Given the description of an element on the screen output the (x, y) to click on. 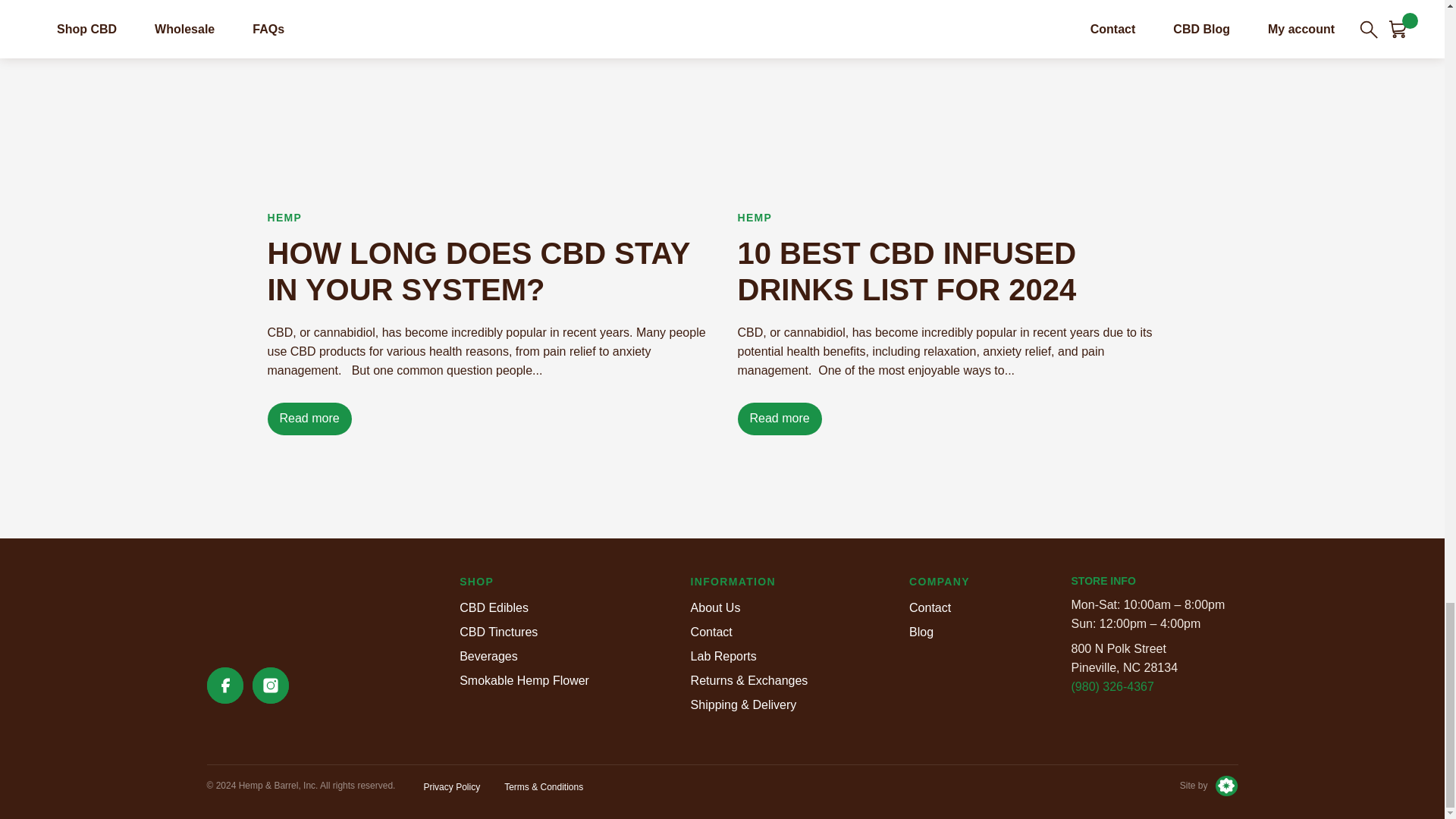
Follow us on instagram (269, 685)
Follow us on Facebook (224, 685)
